Given the description of an element on the screen output the (x, y) to click on. 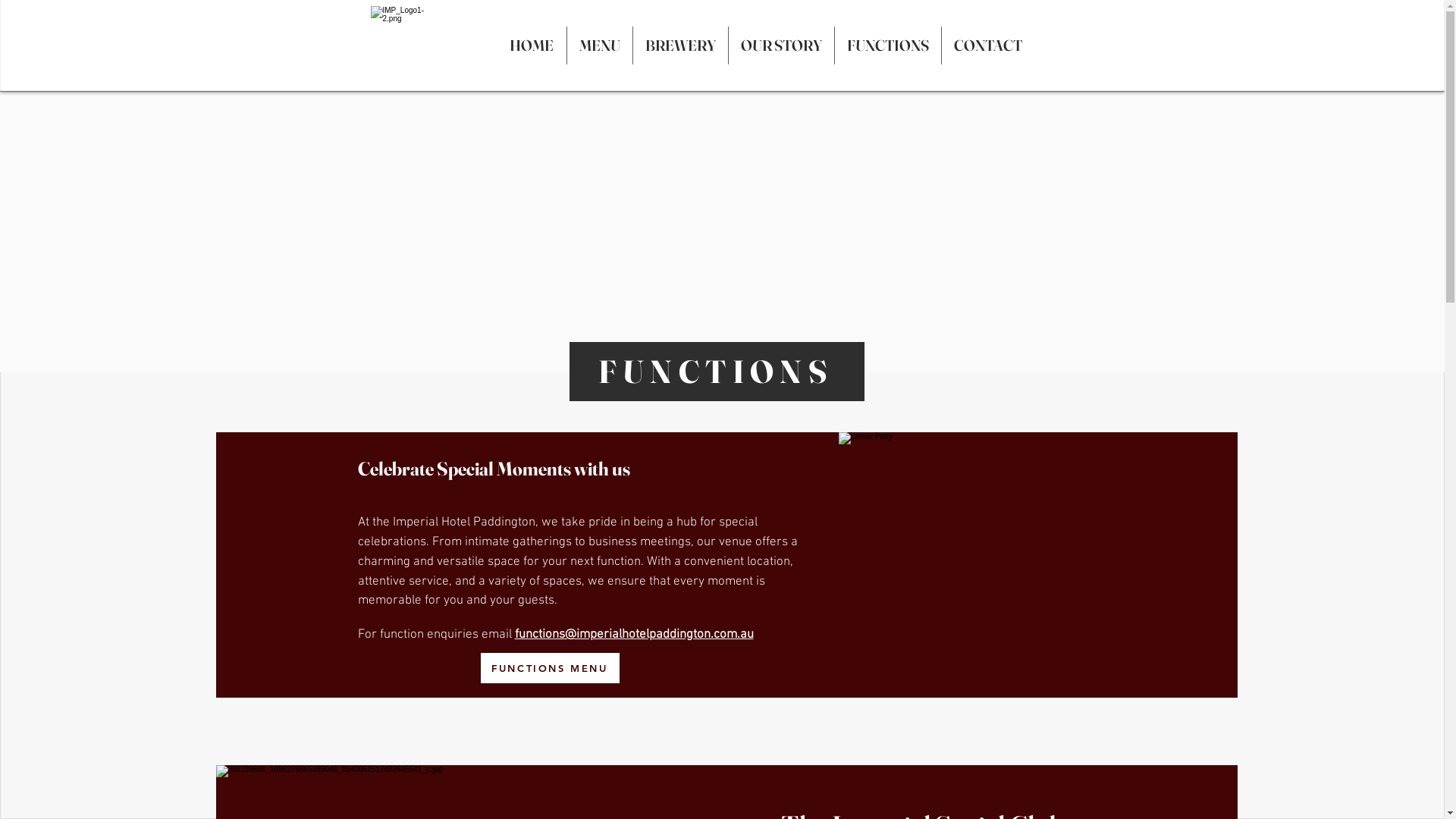
FUNCTIONS MENU Element type: text (549, 667)
BREWERY Element type: text (679, 45)
functions@imperialhotelpaddington.com.au Element type: text (633, 634)
FUNCTIONS Element type: text (887, 45)
CONTACT Element type: text (987, 45)
HOME Element type: text (531, 45)
OUR STORY Element type: text (780, 45)
MENU Element type: text (599, 45)
